Given the description of an element on the screen output the (x, y) to click on. 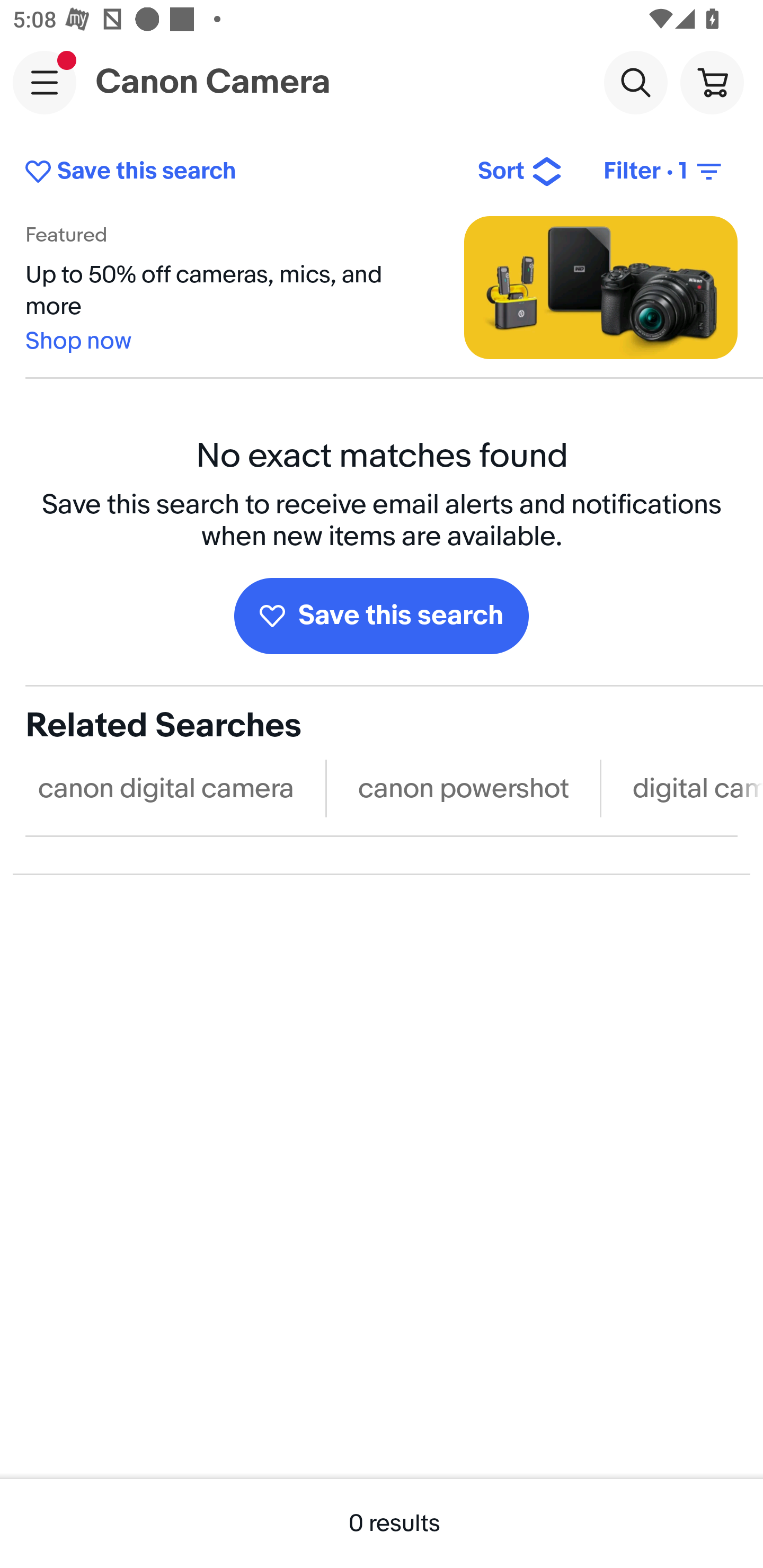
Main navigation, open (44, 82)
Search (635, 81)
Cart button shopping cart (711, 81)
Save this search (237, 171)
Sort (520, 171)
Filter • 1 Filter (1 applied) (663, 171)
Save this search (381, 615)
canon digital camera (166, 787)
canon powershot (463, 787)
digital camera (691, 787)
